Given the description of an element on the screen output the (x, y) to click on. 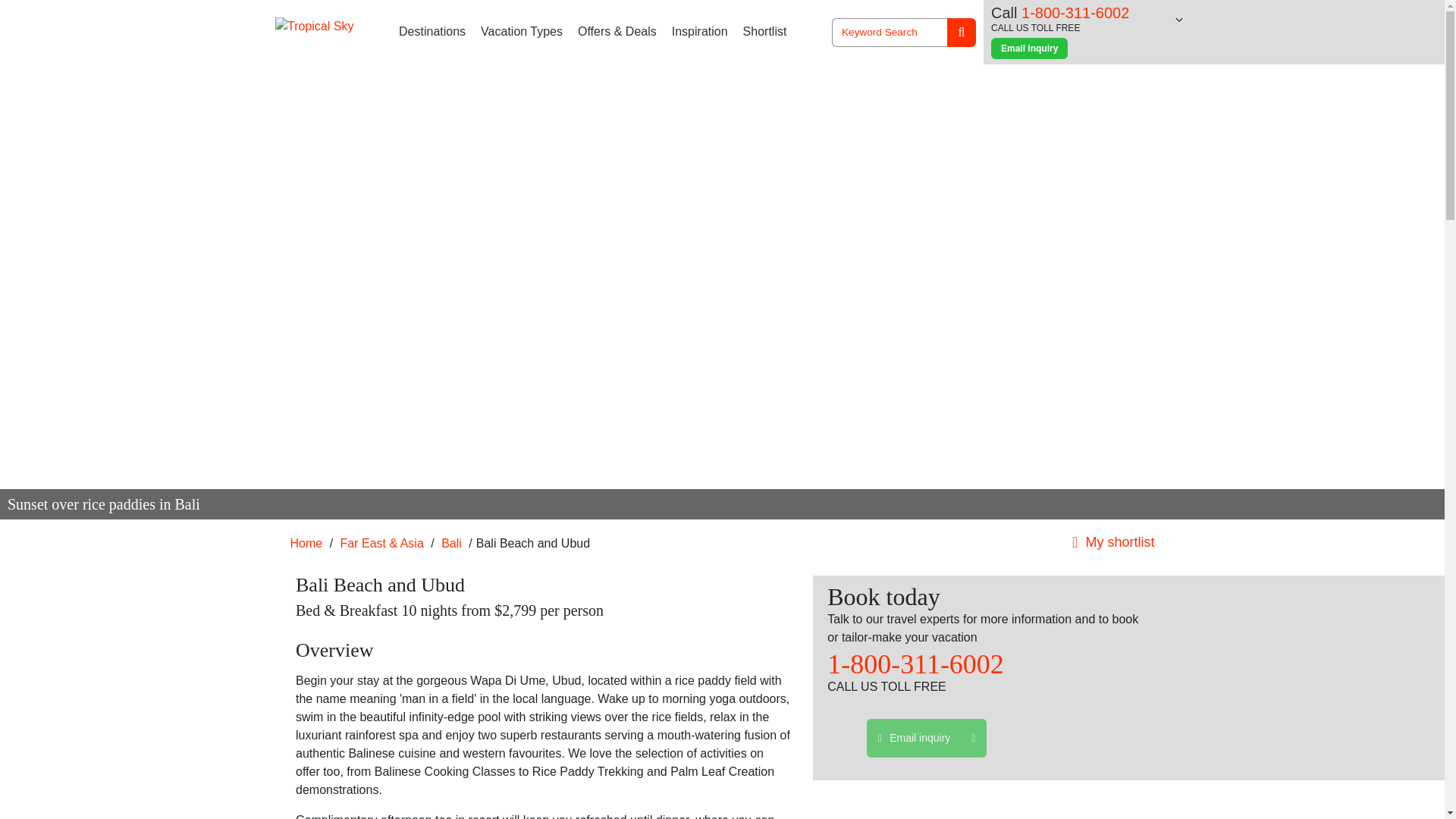
Tropical Sky (314, 26)
Destinations (432, 32)
